Given the description of an element on the screen output the (x, y) to click on. 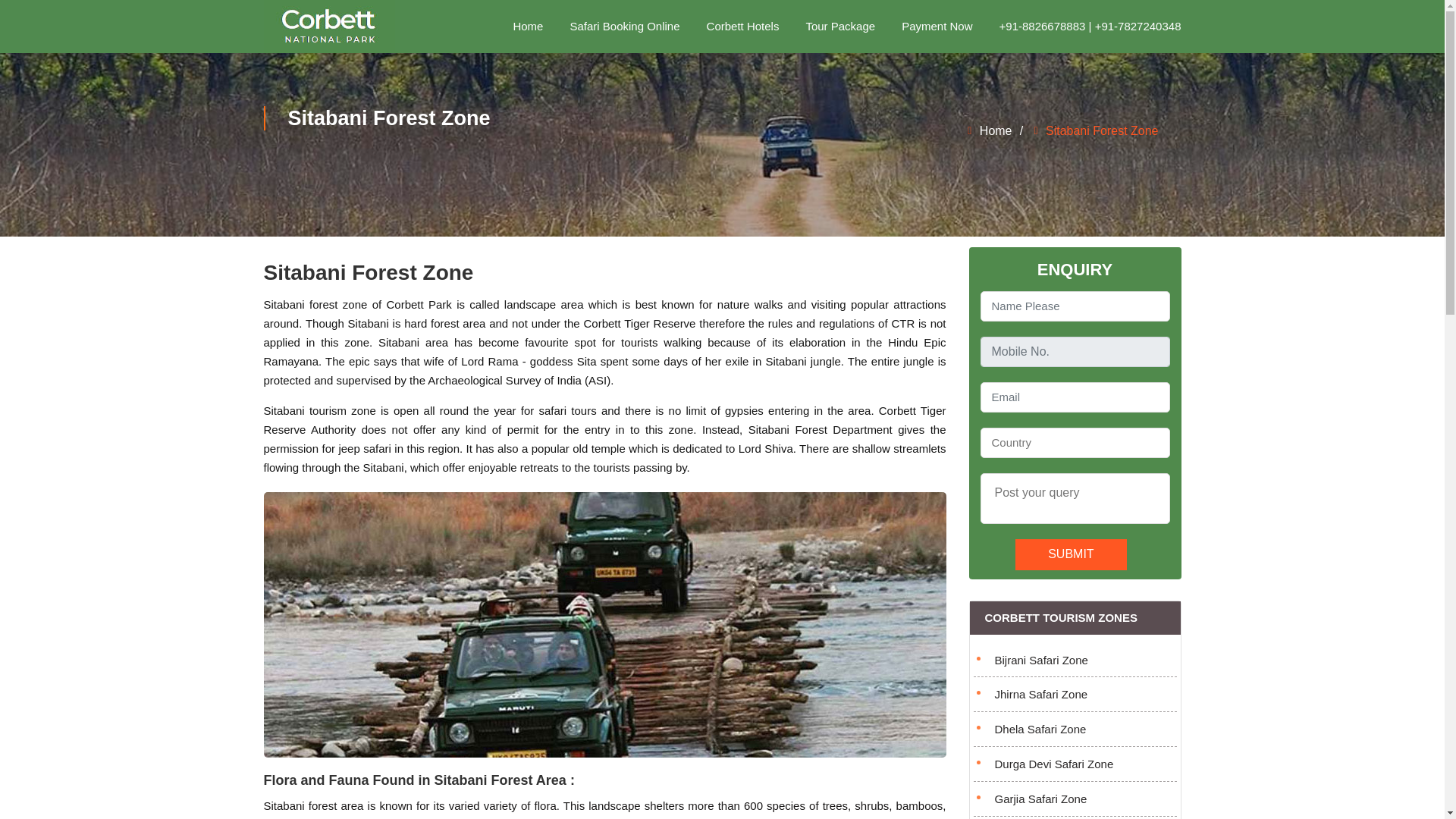
Payment Now (936, 26)
corbett national park logo (328, 26)
Garjia Safari Zone (1075, 799)
Jhirna Safari Zone (1075, 694)
Tour Package (840, 26)
Dhela Safari Zone (1075, 729)
Safari Booking Online (624, 26)
Home (989, 130)
Bijrani Safari Zone (1075, 661)
